Given the description of an element on the screen output the (x, y) to click on. 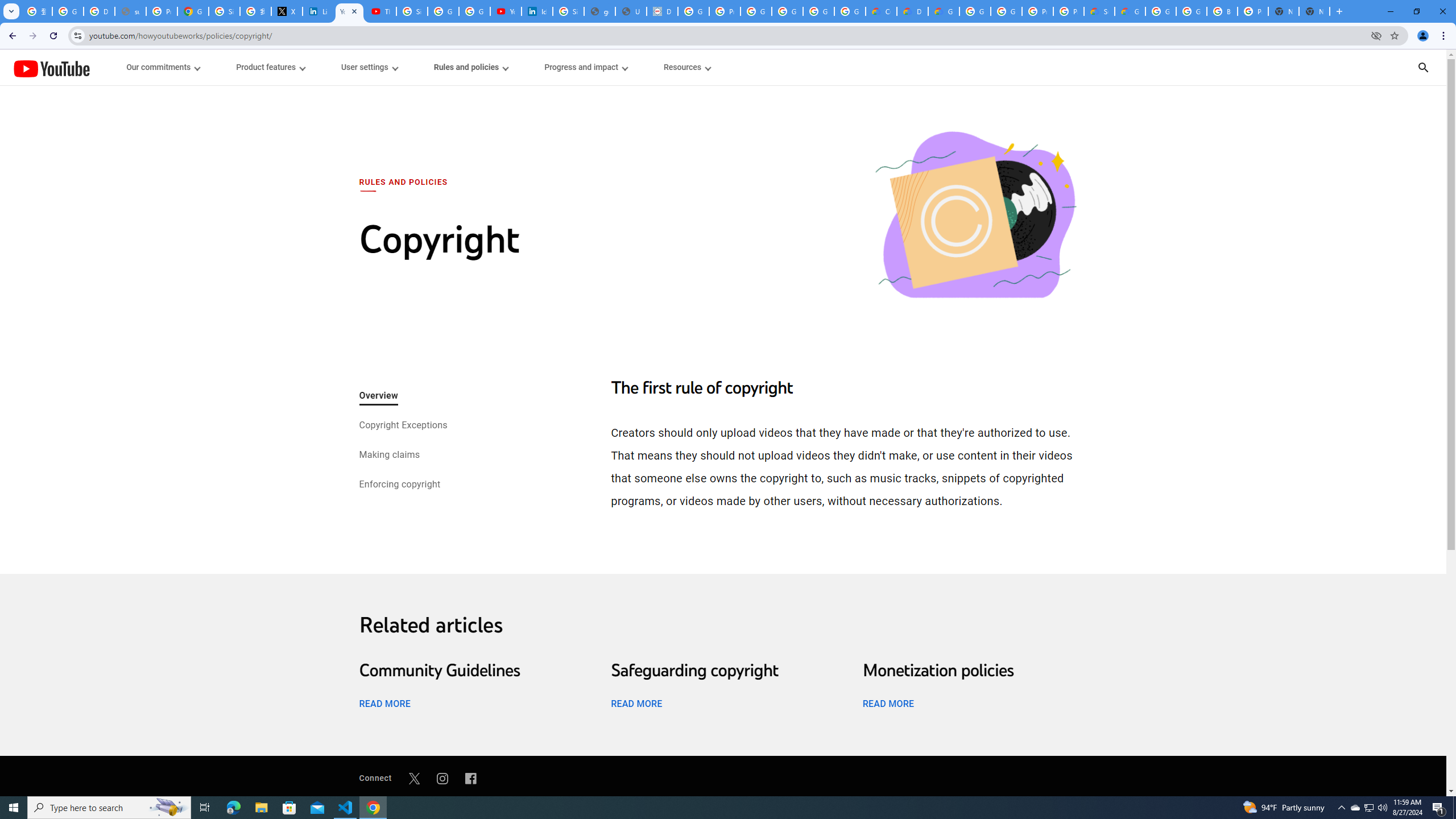
Google Cloud Platform (1005, 11)
Google Cloud Service Health (1129, 11)
X (286, 11)
Copyright (974, 216)
Progress and impact menupopup (585, 67)
Third-party cookies blocked (1376, 35)
Copyright Exceptions (402, 425)
Google Workspace - Specific Terms (818, 11)
LinkedIn Privacy Policy (318, 11)
Google Cloud Platform (1190, 11)
